Given the description of an element on the screen output the (x, y) to click on. 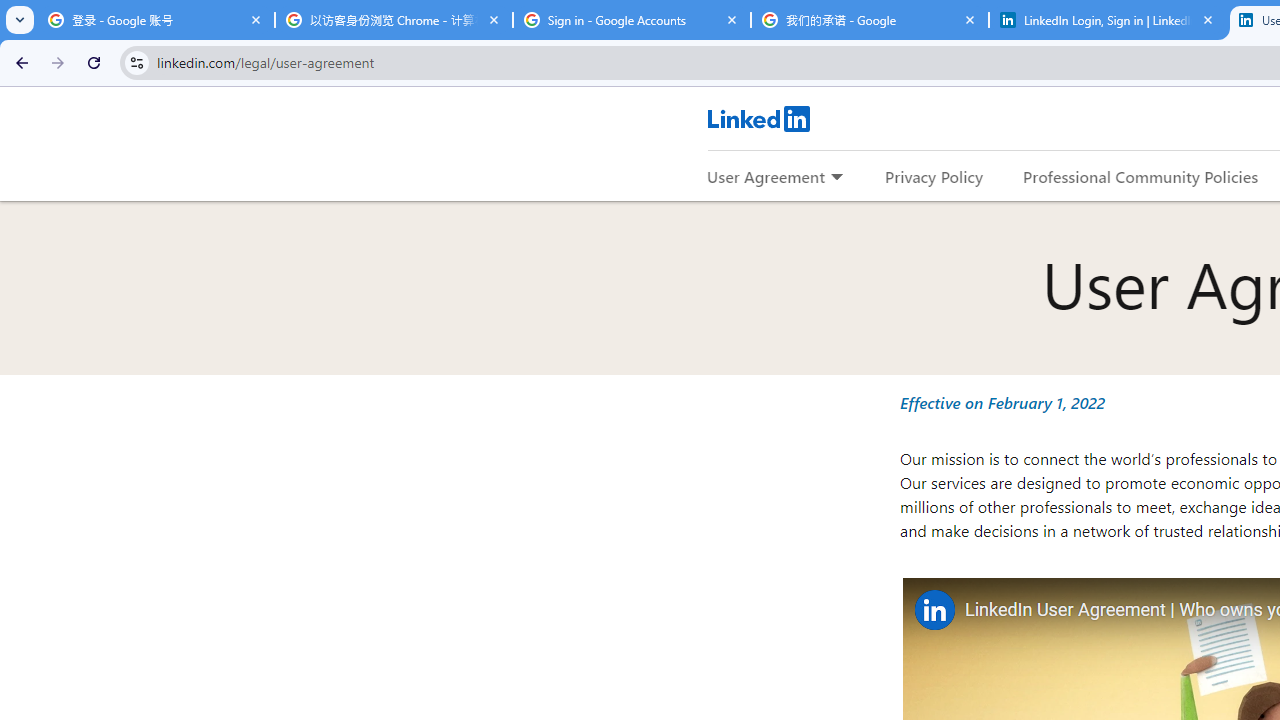
Professional Community Policies (1140, 176)
Effective on February 1, 2022 (1001, 402)
Photo image of LinkedIn (933, 609)
Expand to show more links for User Agreement (836, 178)
